Given the description of an element on the screen output the (x, y) to click on. 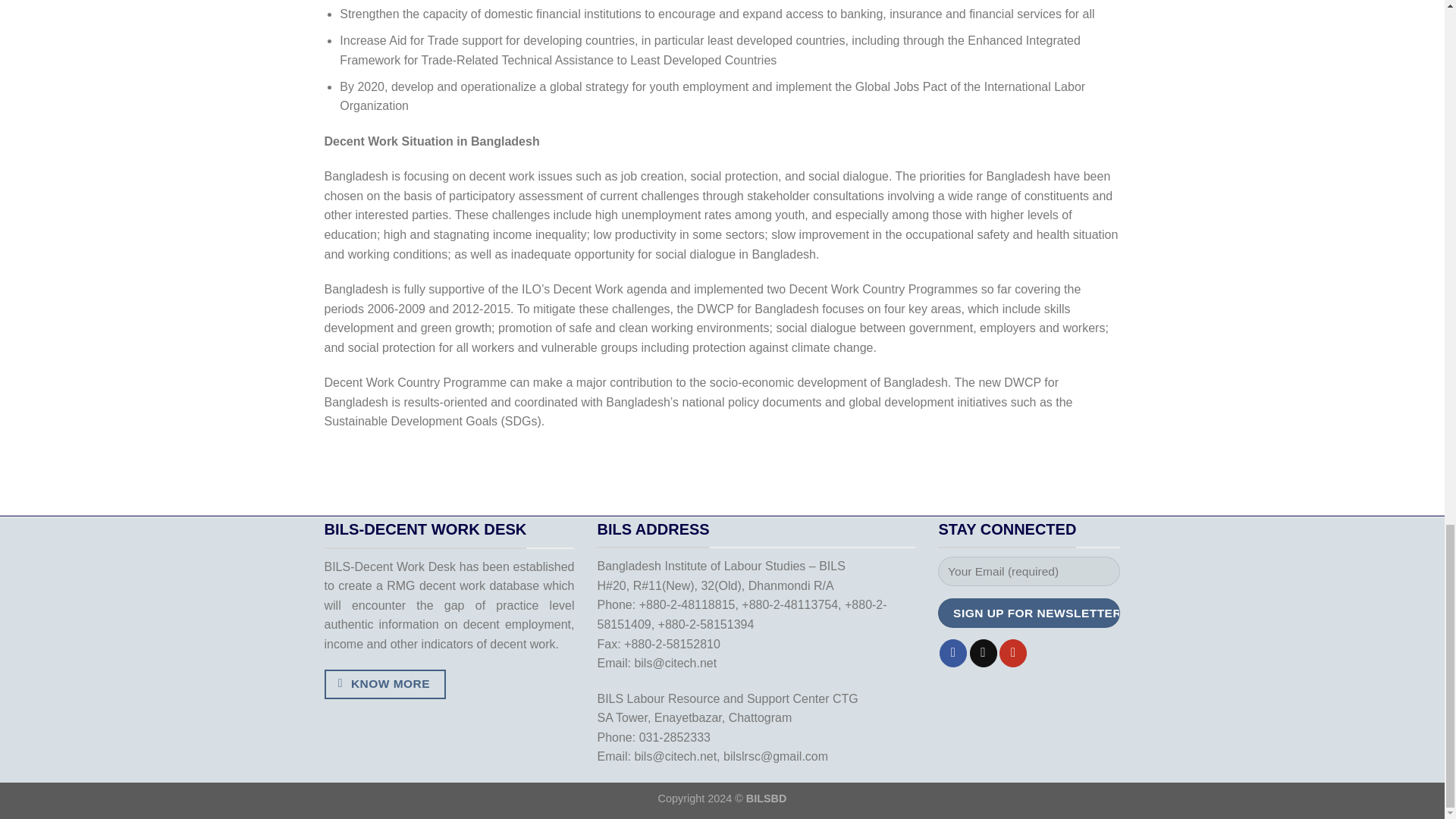
Follow on Facebook (952, 653)
Follow on YouTube (1012, 653)
Send us an email (983, 653)
Sign Up for Newsletter (1028, 613)
